Given the description of an element on the screen output the (x, y) to click on. 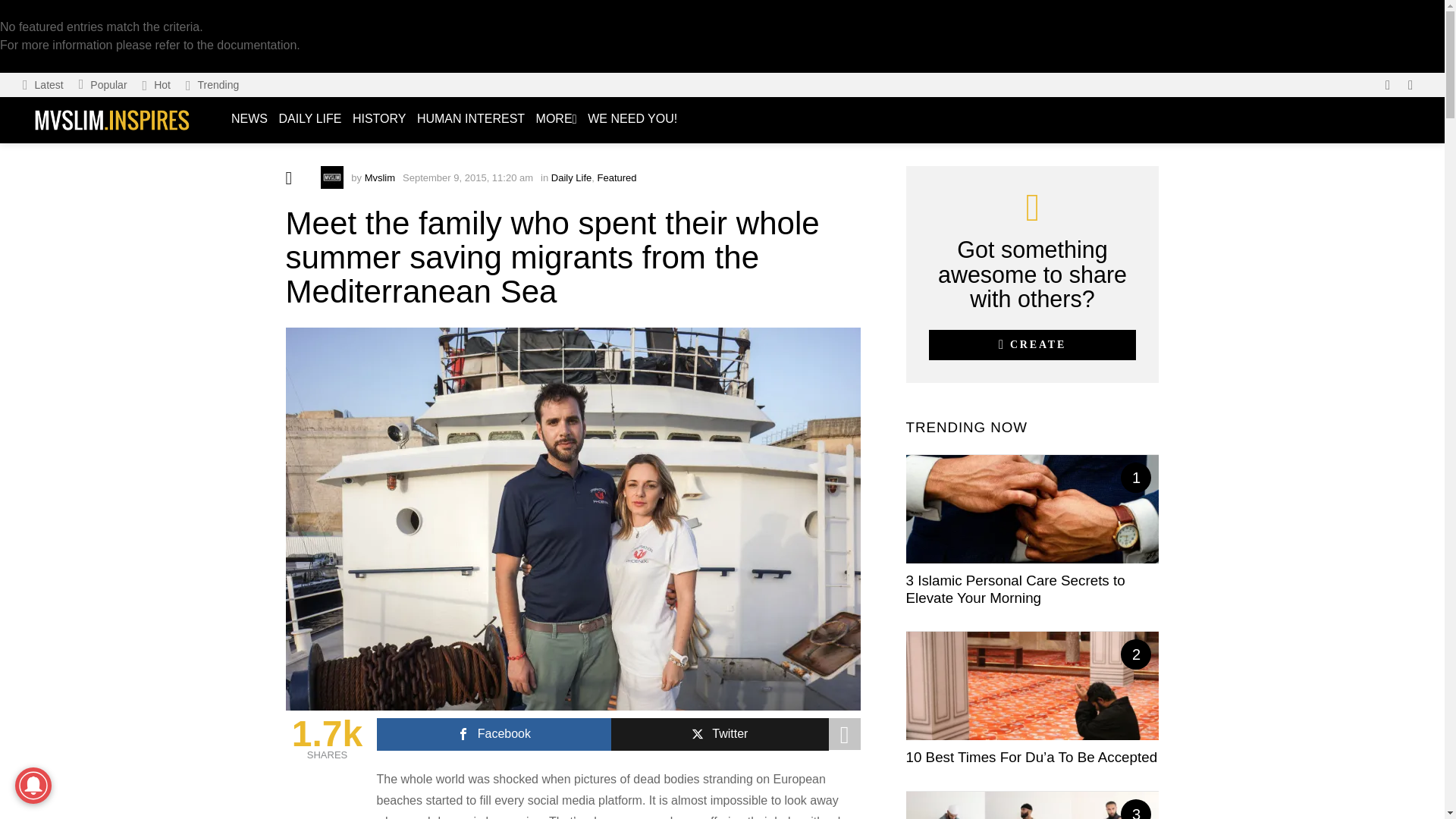
Hot (156, 84)
NEWS (248, 118)
Follow us (1387, 84)
Twitter (719, 734)
HISTORY (379, 118)
Latest (42, 84)
FOLLOW US (1387, 84)
DAILY LIFE (310, 118)
HUMAN INTEREST (470, 118)
WE NEED YOU! (632, 118)
SEARCH (1410, 84)
Daily Life (571, 177)
Search (1201, 161)
Popular (103, 84)
September 9, 2015, 11:20 am (467, 177)
